Given the description of an element on the screen output the (x, y) to click on. 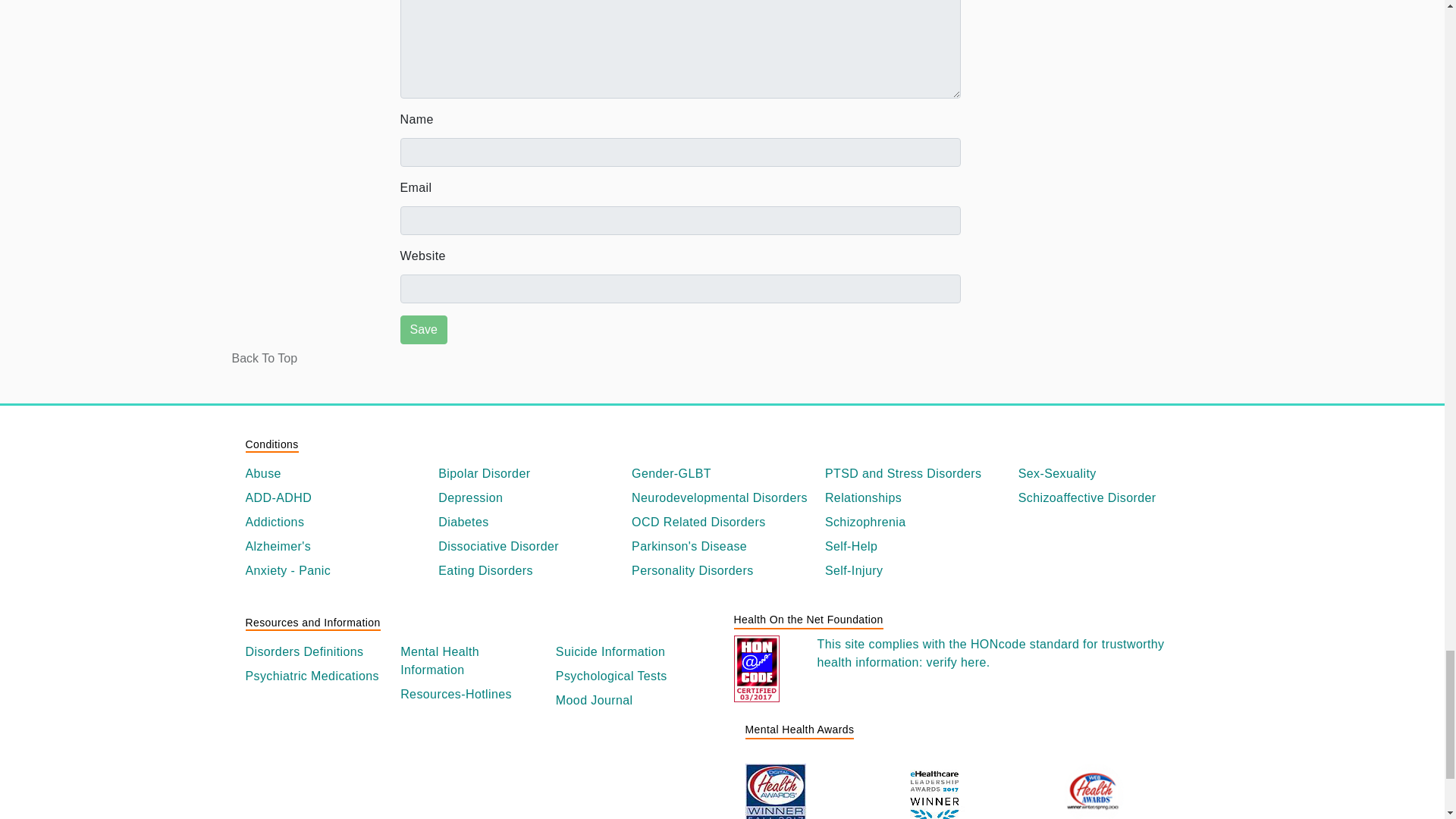
Parkinson's Disease Information Articles (721, 546)
